Given the description of an element on the screen output the (x, y) to click on. 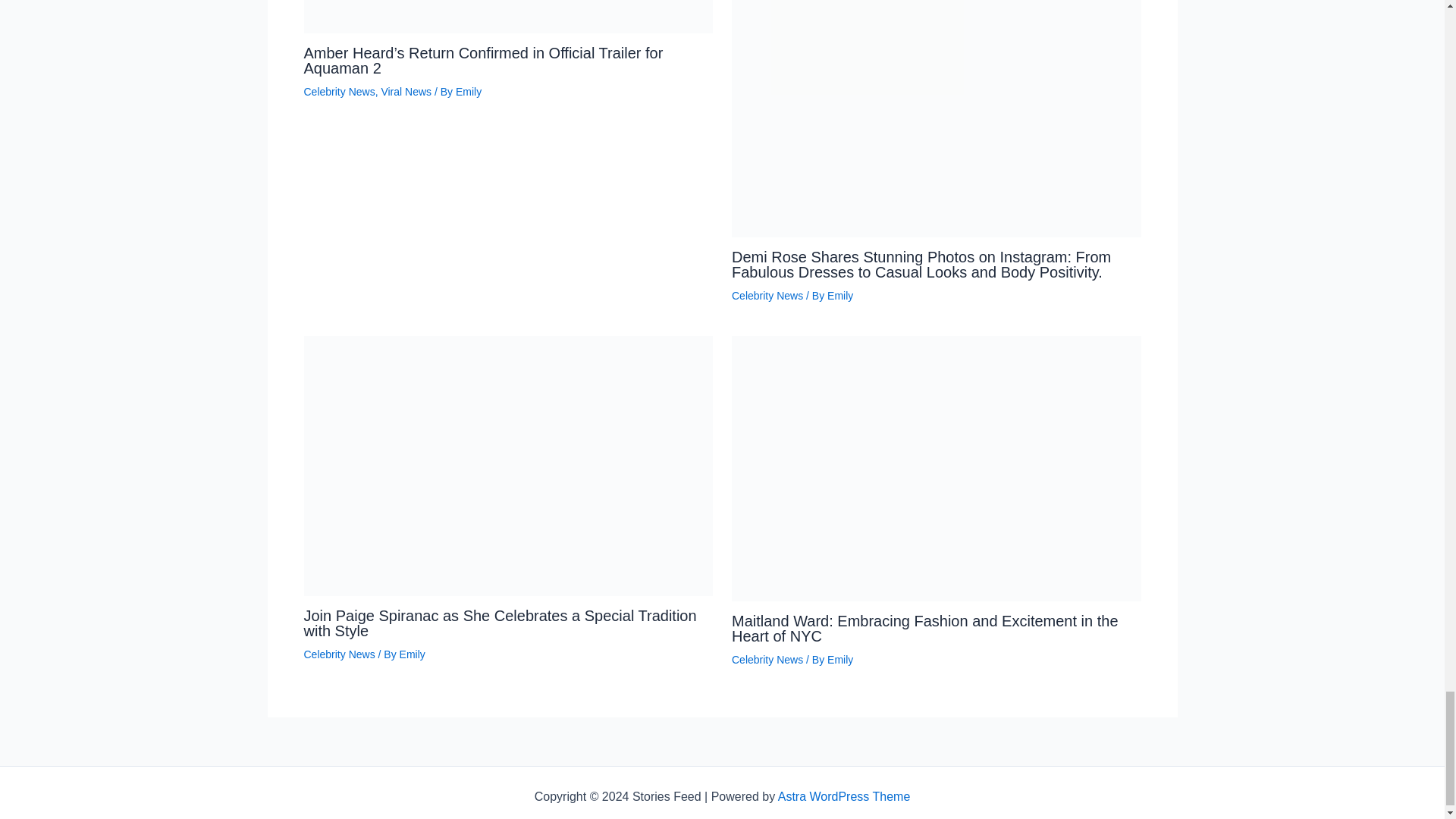
Celebrity News (338, 654)
Emily (840, 659)
Celebrity News (767, 659)
View all posts by Emily (411, 654)
Emily (468, 91)
Emily (840, 295)
Celebrity News (767, 295)
Celebrity News (338, 91)
View all posts by Emily (468, 91)
Viral News (405, 91)
Emily (411, 654)
Astra WordPress Theme (844, 796)
